Given the description of an element on the screen output the (x, y) to click on. 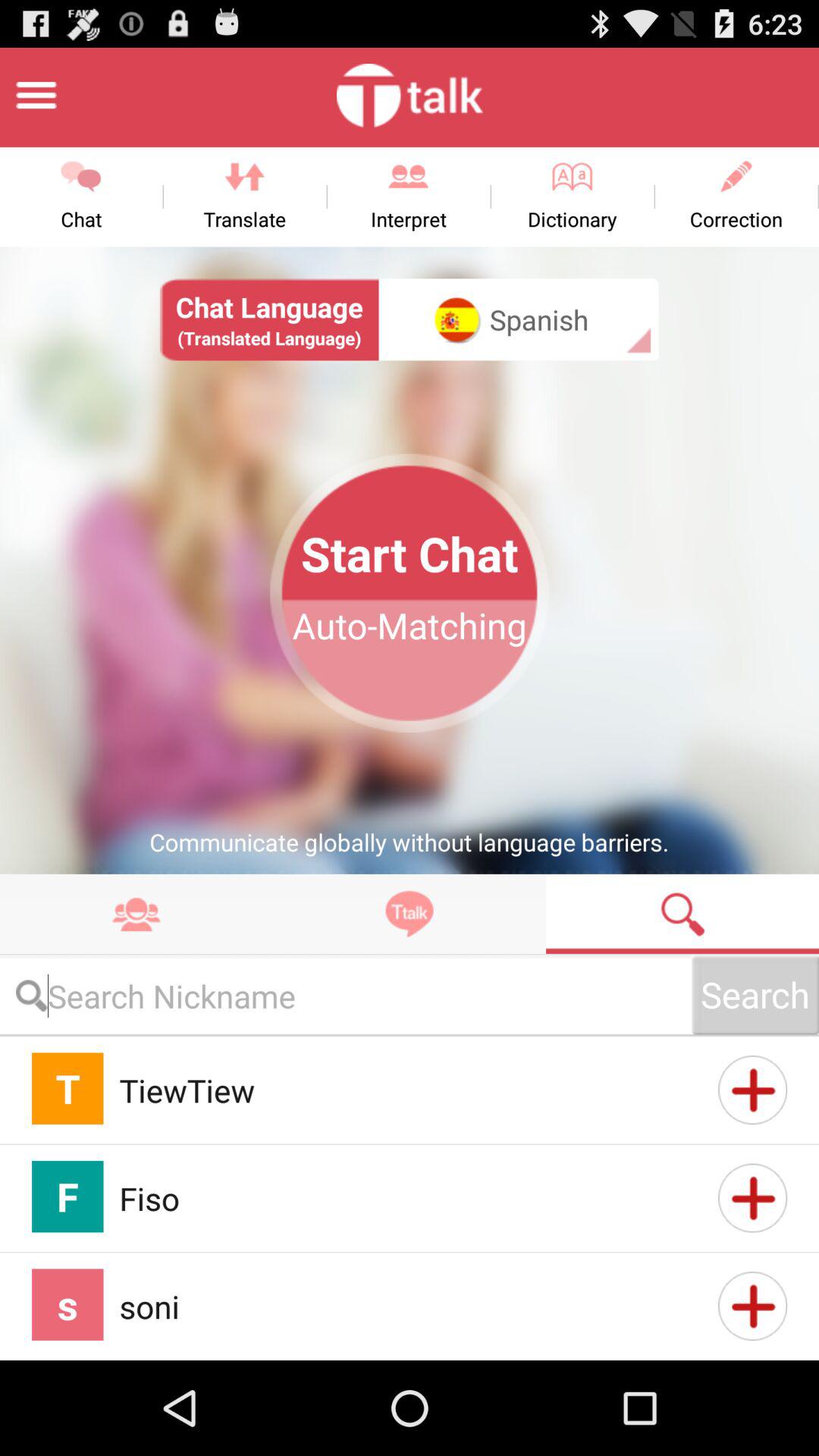
click the settings option (36, 94)
